Given the description of an element on the screen output the (x, y) to click on. 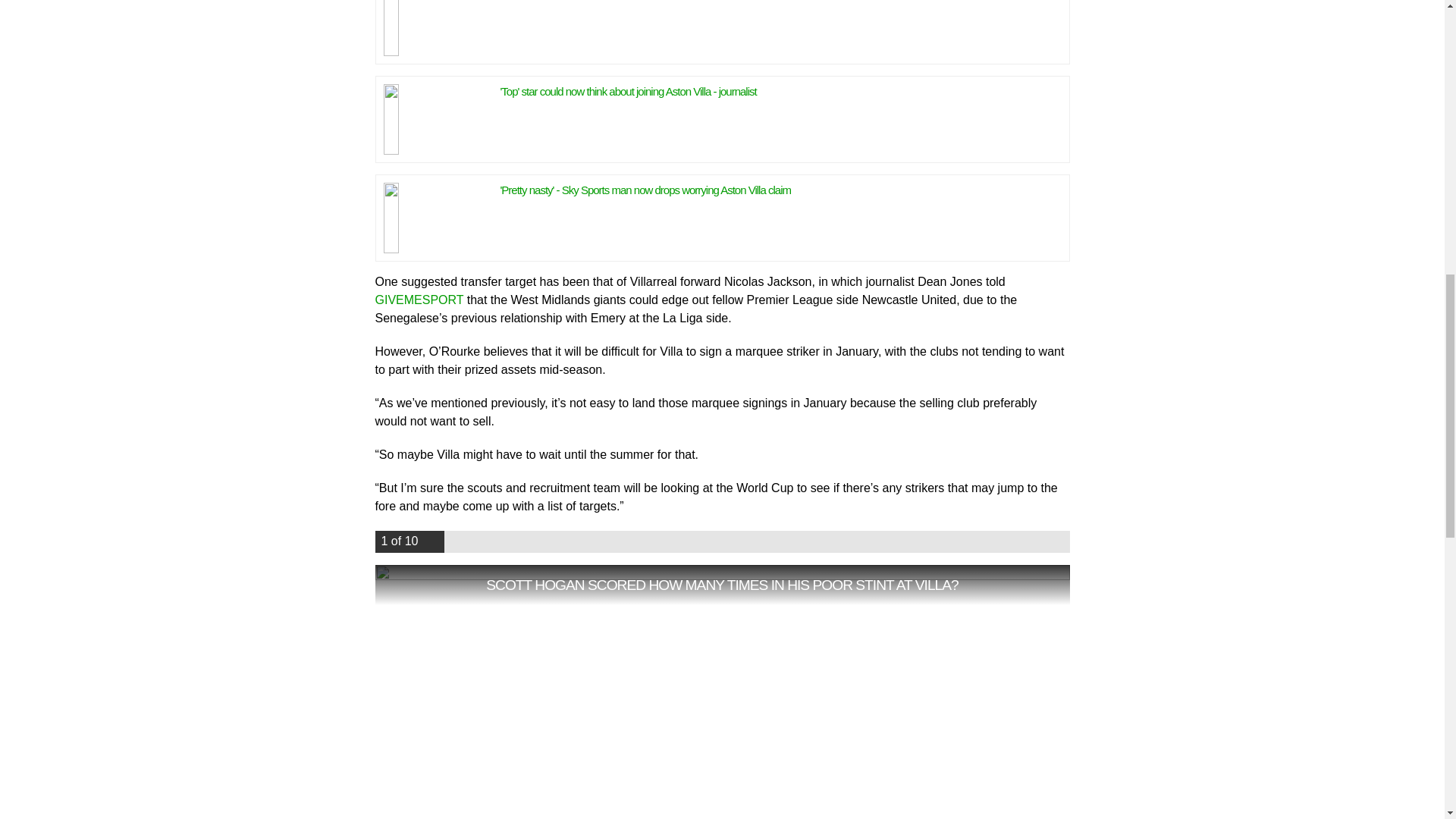
GIVEMESPORT (418, 299)
